Given the description of an element on the screen output the (x, y) to click on. 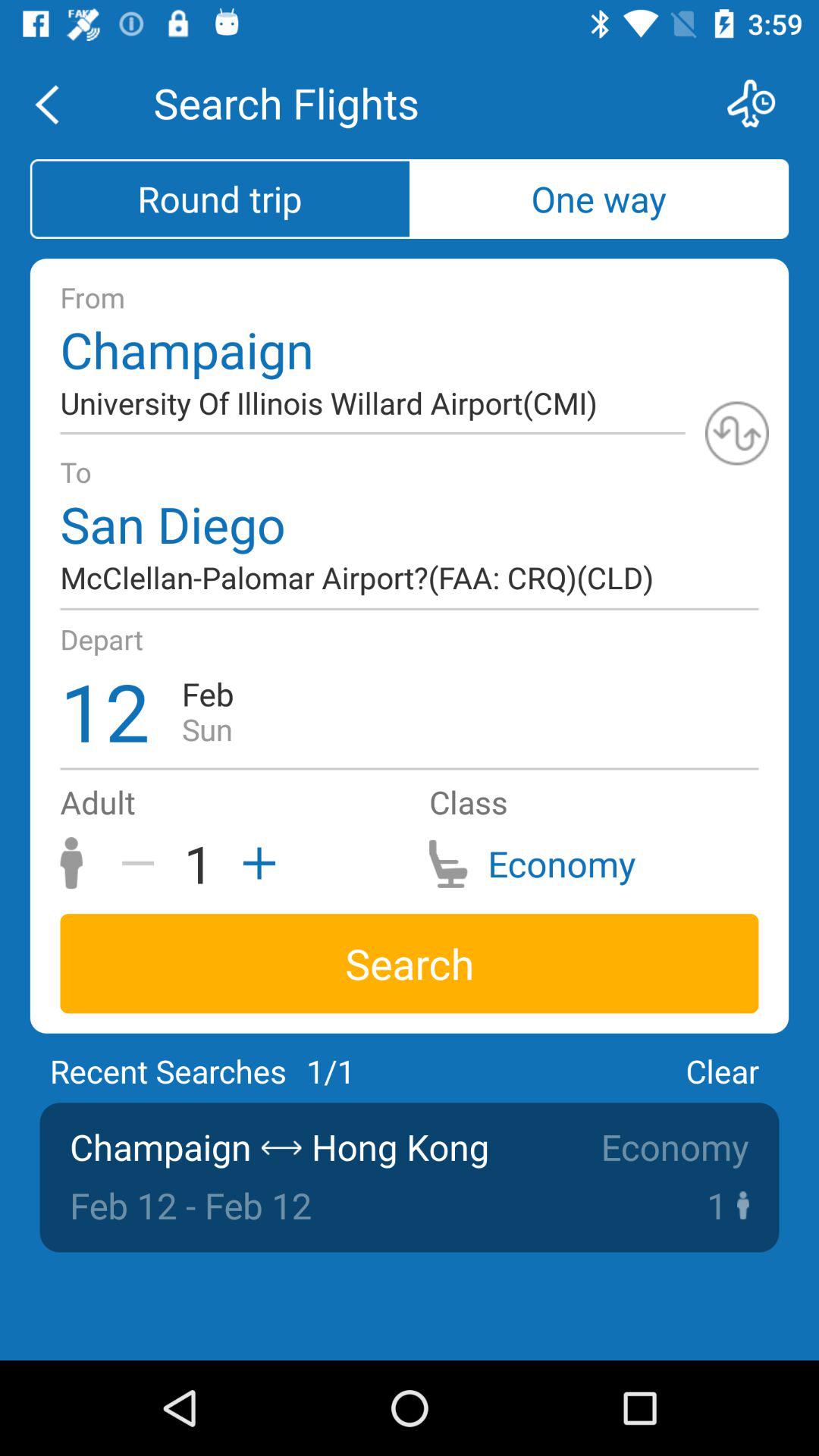
decrease items (143, 863)
